Given the description of an element on the screen output the (x, y) to click on. 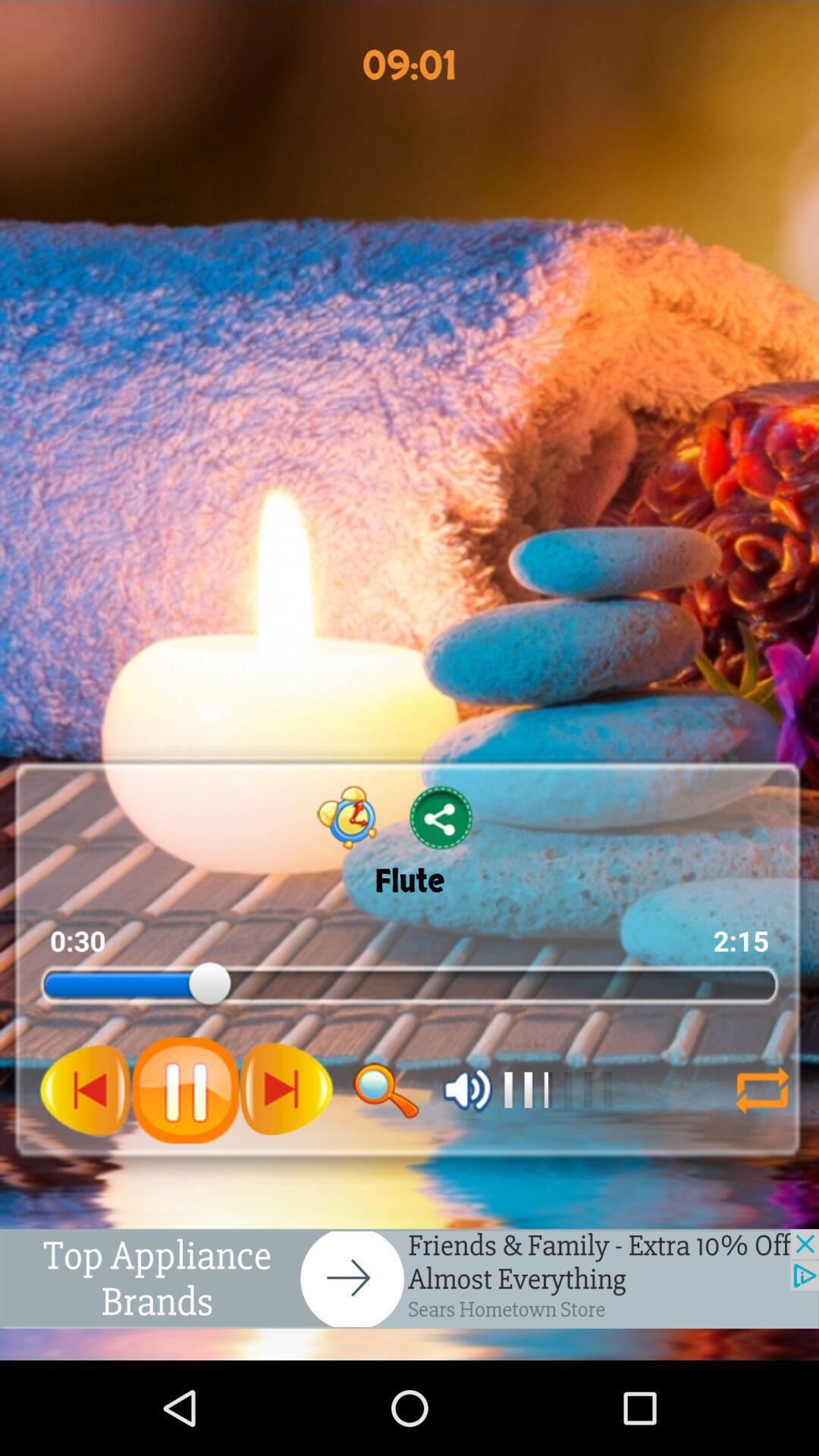
go to search box (386, 1090)
